Given the description of an element on the screen output the (x, y) to click on. 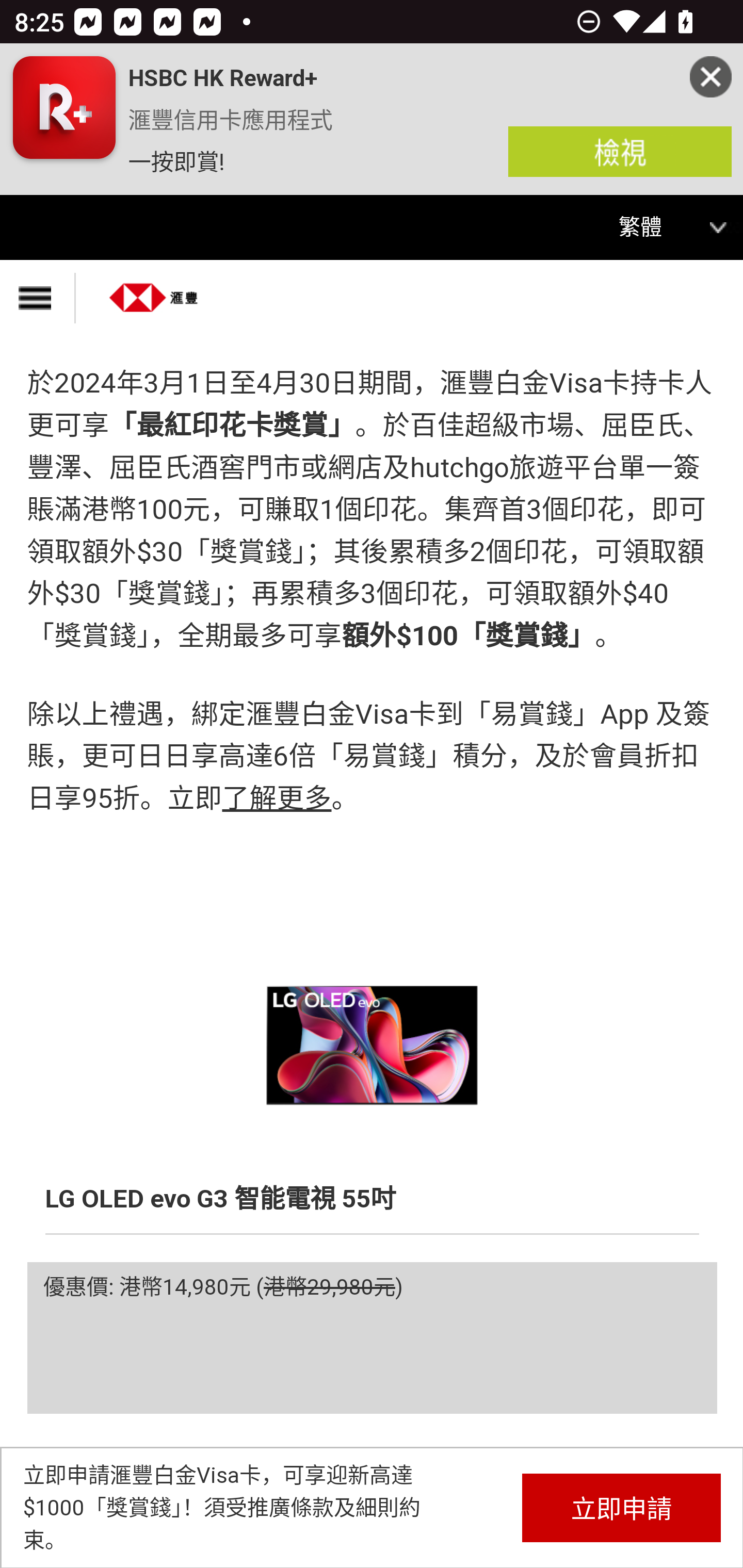
繁體 (653, 227)
HSBC (154, 291)
目錄 (37, 298)
了解更多 (276, 800)
立即申請 (621, 1507)
